Given the description of an element on the screen output the (x, y) to click on. 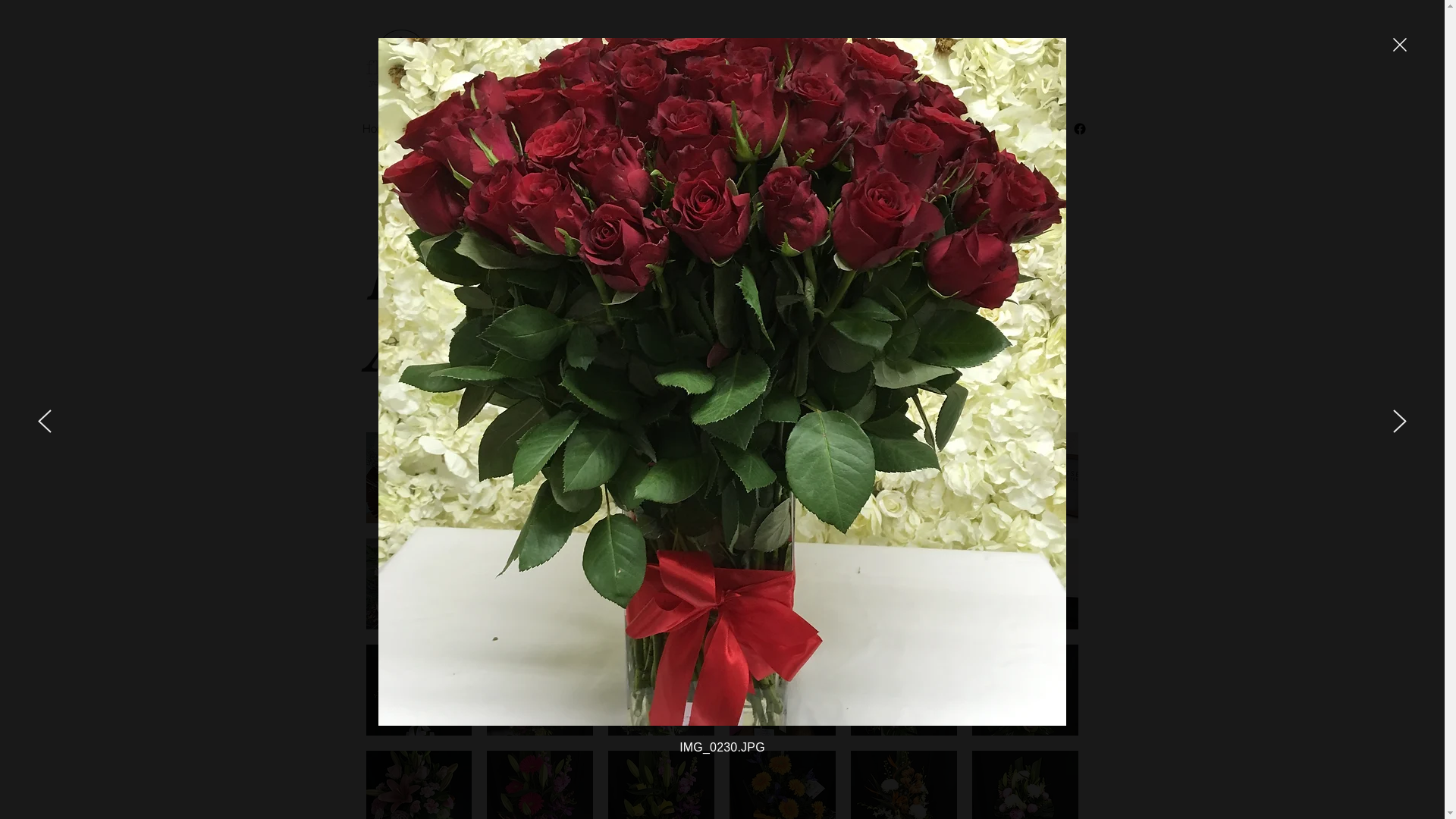
Events Element type: text (591, 127)
Weddings Element type: text (440, 127)
Contact Element type: text (807, 127)
Ceremonies Element type: text (519, 127)
Bridal Bouquets Element type: text (671, 127)
Florist Element type: text (749, 127)
Home Element type: text (376, 127)
